Given the description of an element on the screen output the (x, y) to click on. 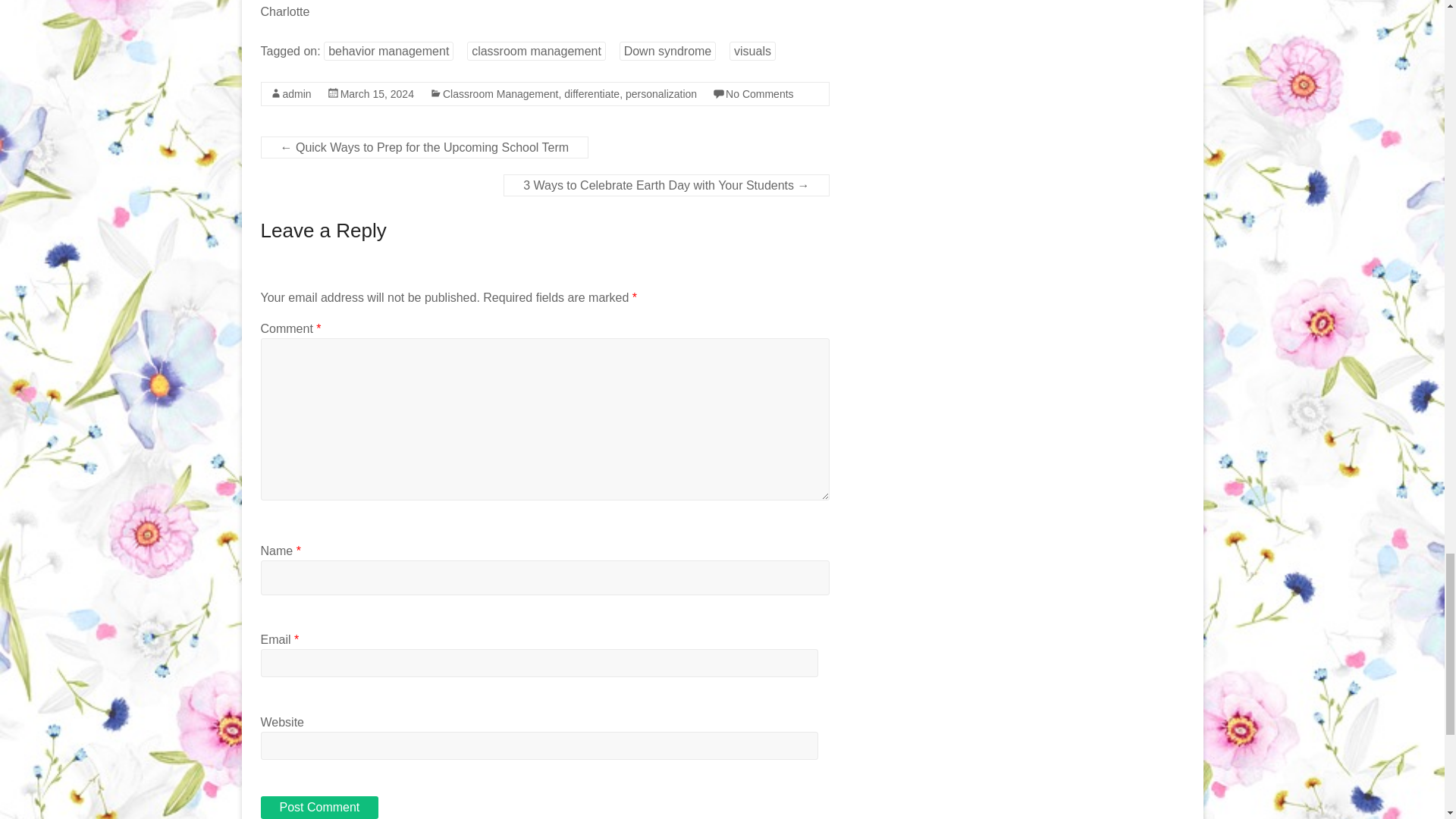
March 15, 2024 (376, 93)
11:20 am (376, 93)
behavior management (387, 50)
Post Comment (319, 807)
admin (296, 93)
Down syndrome (668, 50)
classroom management (536, 50)
Classroom Management (500, 93)
visuals (752, 50)
